Given the description of an element on the screen output the (x, y) to click on. 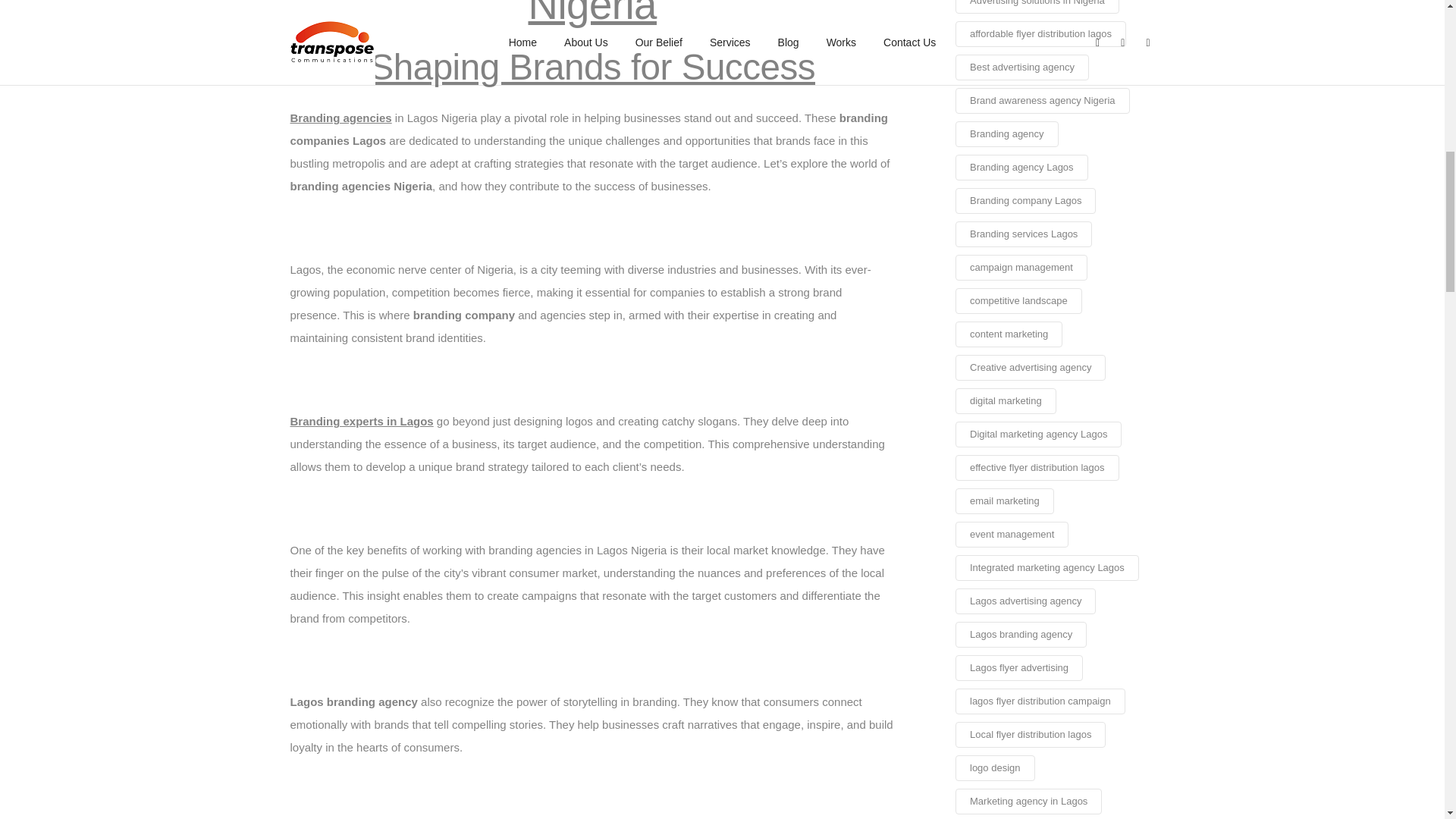
Brand awareness agency Nigeria (1042, 100)
Branding agency Lagos (1021, 167)
Best advertising agency (1022, 67)
Branding experts in Lagos (360, 420)
Branding company Lagos (1025, 200)
affordable flyer distribution lagos (1040, 33)
Branding agency (1006, 134)
Branding agencies (340, 117)
campaign management (1021, 267)
Branding services Lagos (1023, 234)
Advertising solutions in Nigeria (1037, 6)
competitive landscape (1018, 300)
